Given the description of an element on the screen output the (x, y) to click on. 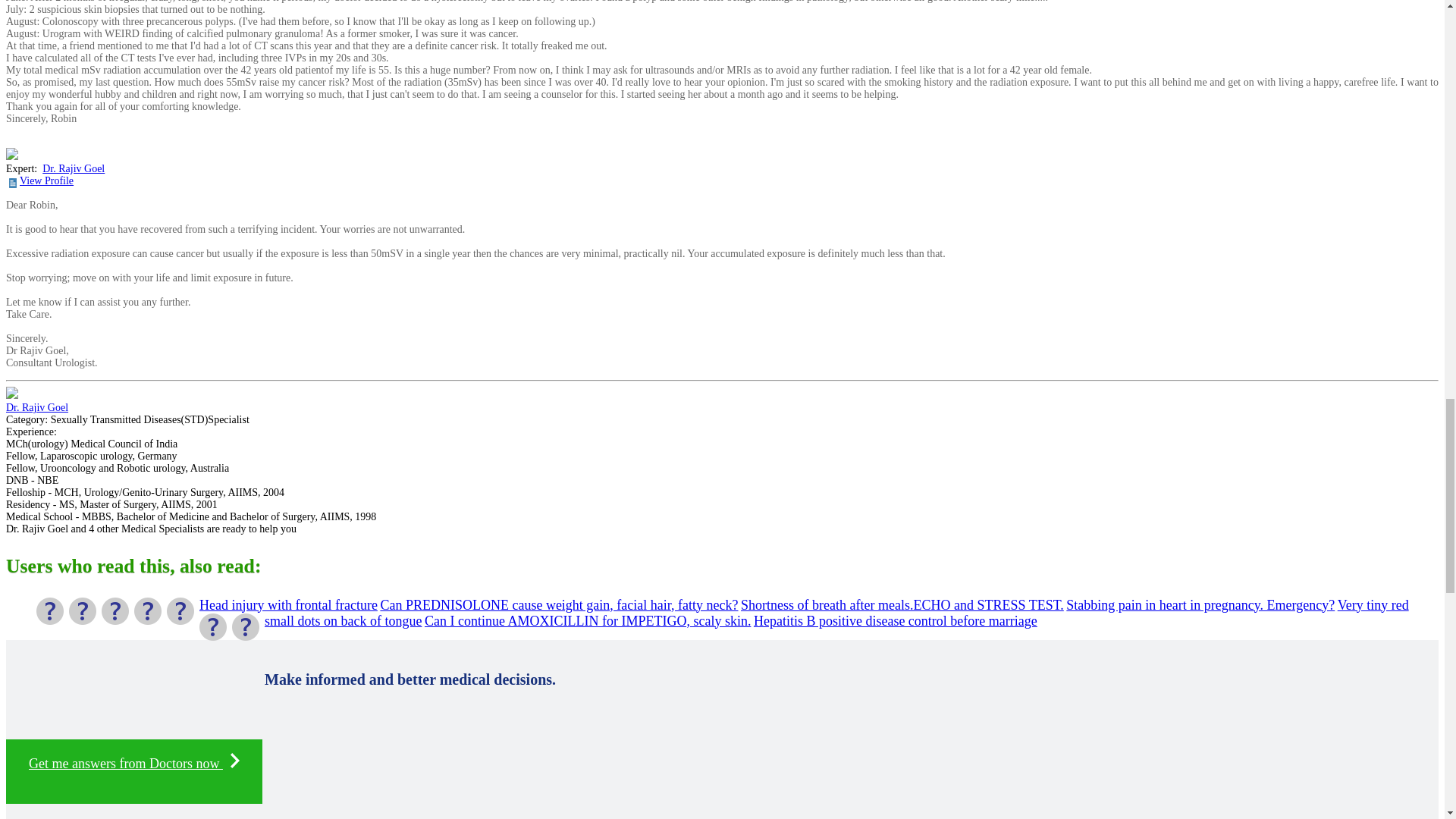
Dr. Rajiv Goel (36, 407)
Hepatitis B positive disease control before marriage (895, 620)
View Profile (47, 180)
Dr. Rajiv Goel (73, 168)
Get me answers from Doctors now (133, 771)
Can PREDNISOLONE cause weight gain, facial hair, fatty neck? (559, 604)
Ask a Doctor now (133, 771)
Very tiny red small dots on back of tongue (836, 612)
Head injury with frontal fracture (288, 604)
Stabbing pain in heart in pregnancy. Emergency? (1200, 604)
